Given the description of an element on the screen output the (x, y) to click on. 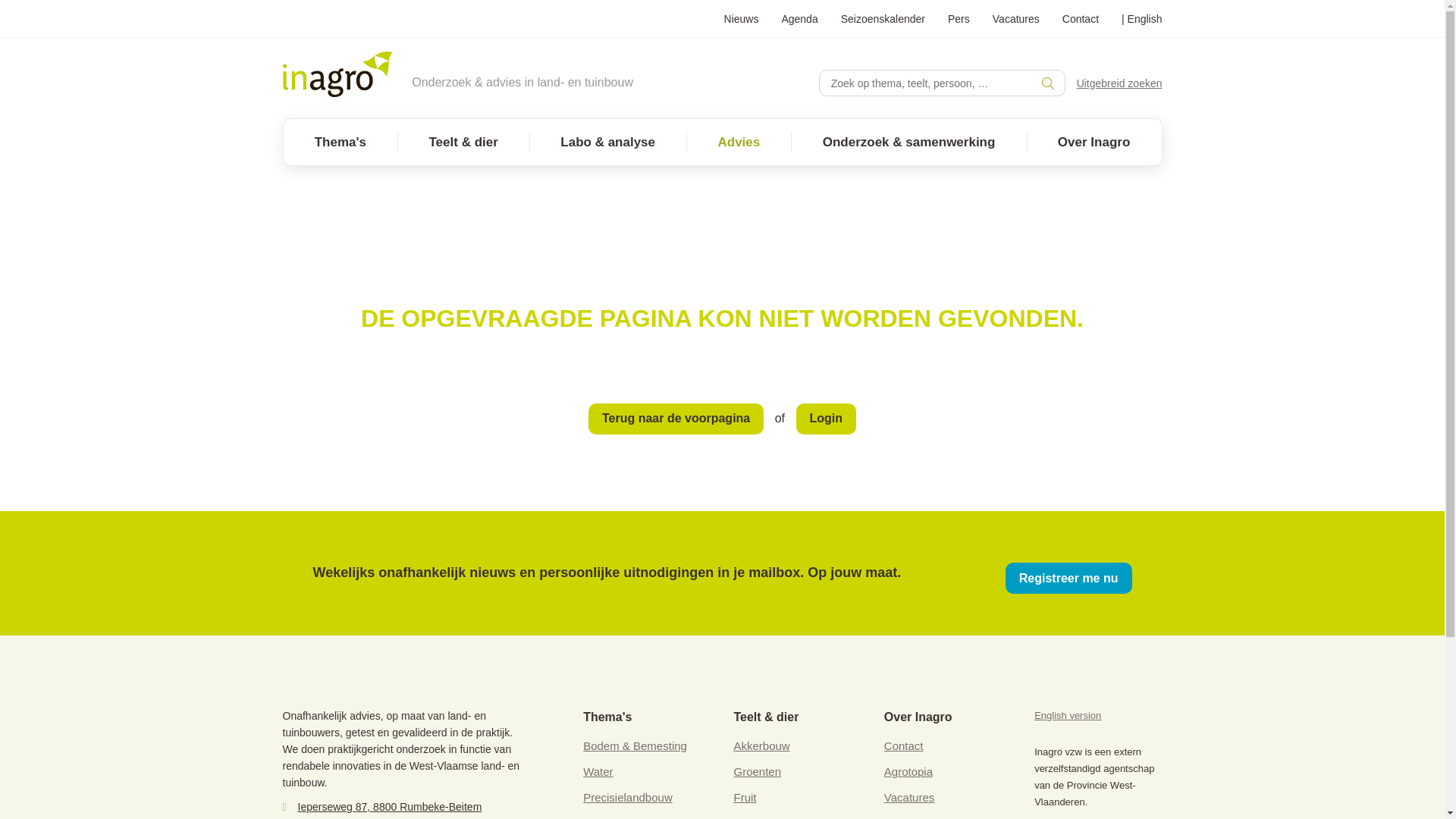
Teelt & dier Element type: text (463, 142)
Bodem & Bemesting Element type: text (635, 745)
Contact Element type: text (903, 745)
Precisielandbouw Element type: text (627, 796)
Login Element type: text (826, 418)
Teelt & dier Element type: text (765, 716)
Onderzoek & samenwerking Element type: text (908, 142)
Over Inagro Element type: text (918, 716)
Terug naar de voorpagina Element type: text (675, 418)
Advies Element type: text (738, 142)
| English Element type: text (1141, 18)
Vacatures Element type: text (909, 796)
Thema's Element type: text (340, 142)
Water Element type: text (597, 771)
Contact Element type: text (1080, 18)
Seizoenskalender Element type: text (882, 18)
Fruit Element type: text (744, 796)
Groenten Element type: text (757, 771)
Agenda Element type: text (799, 18)
Over Inagro Element type: text (1093, 142)
Agrotopia Element type: text (908, 771)
Overslaan en naar de inhoud gaan Element type: text (0, 0)
Zoeken Element type: text (832, 82)
Uitgebreid zoeken Element type: text (1119, 82)
Registreer me nu Element type: text (1068, 577)
Labo & analyse Element type: text (607, 142)
Akkerbouw Element type: text (761, 745)
Ieperseweg 87, 8800 Rumbeke-Beitem Element type: text (389, 806)
English version Element type: text (1067, 715)
Home Element type: hover (337, 74)
Nieuws Element type: text (741, 18)
Pers Element type: text (958, 18)
Thema's Element type: text (607, 716)
Vacatures Element type: text (1015, 18)
